Given the description of an element on the screen output the (x, y) to click on. 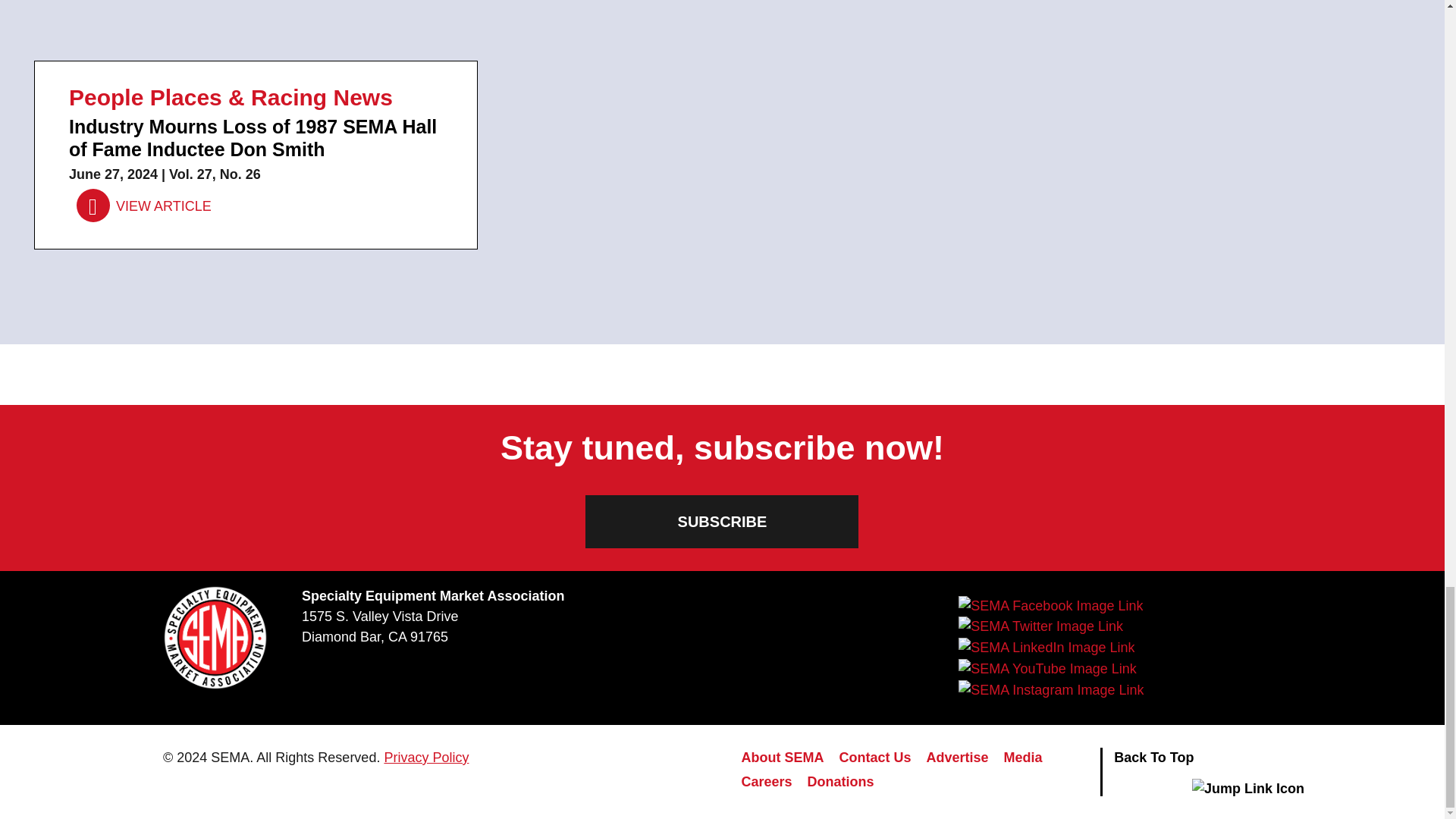
VIEW ARTICLE (143, 205)
SEMA Facebook Link (1050, 605)
SEMA LinkedIn Link (1046, 647)
Privacy Policy (426, 757)
SEMA Instagram Link (1050, 690)
SEMA YouTube Link (1046, 668)
SUBSCRIBE (722, 521)
SEMA Twitter Link (1040, 627)
